Given the description of an element on the screen output the (x, y) to click on. 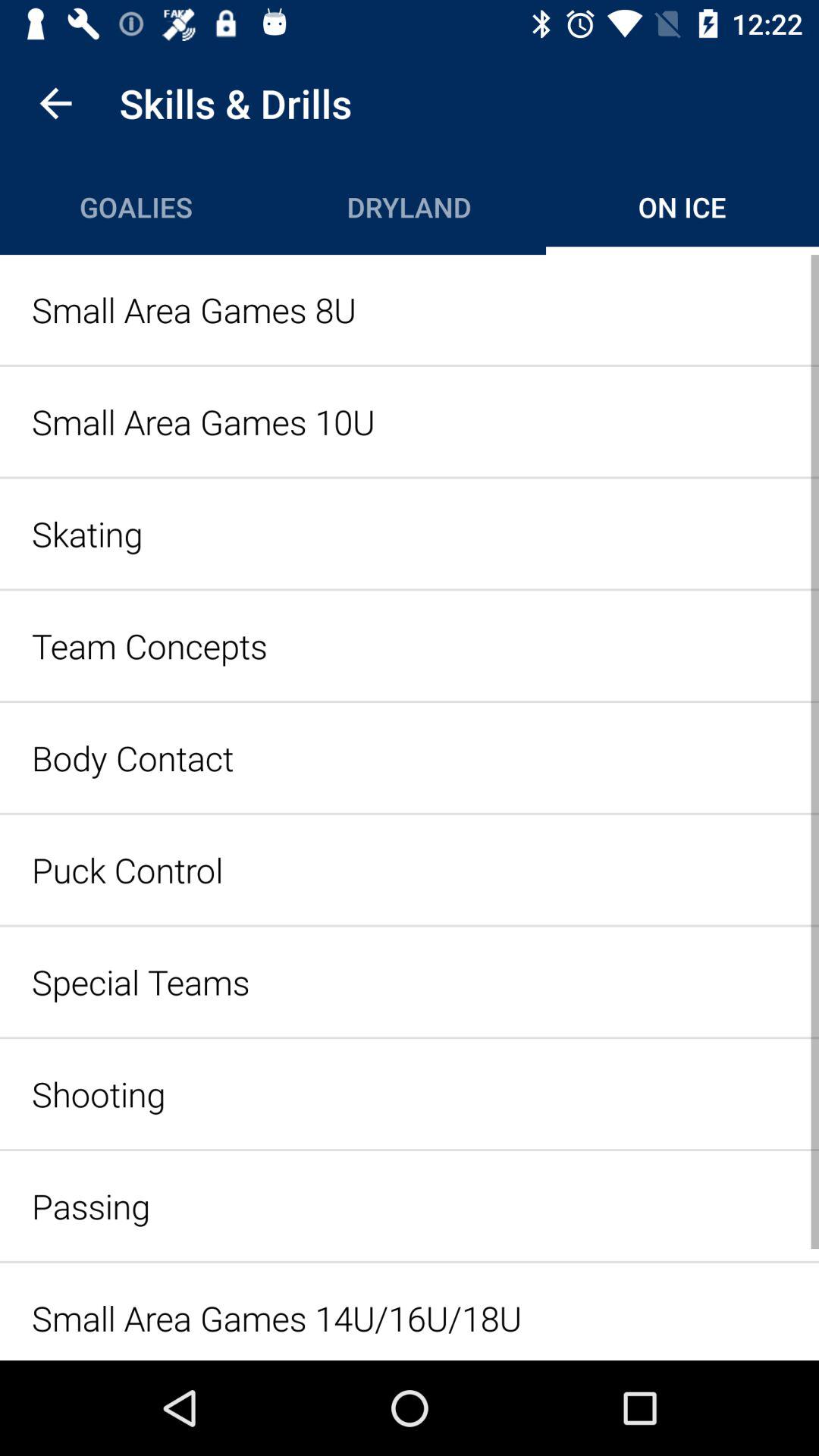
press skating icon (409, 533)
